Given the description of an element on the screen output the (x, y) to click on. 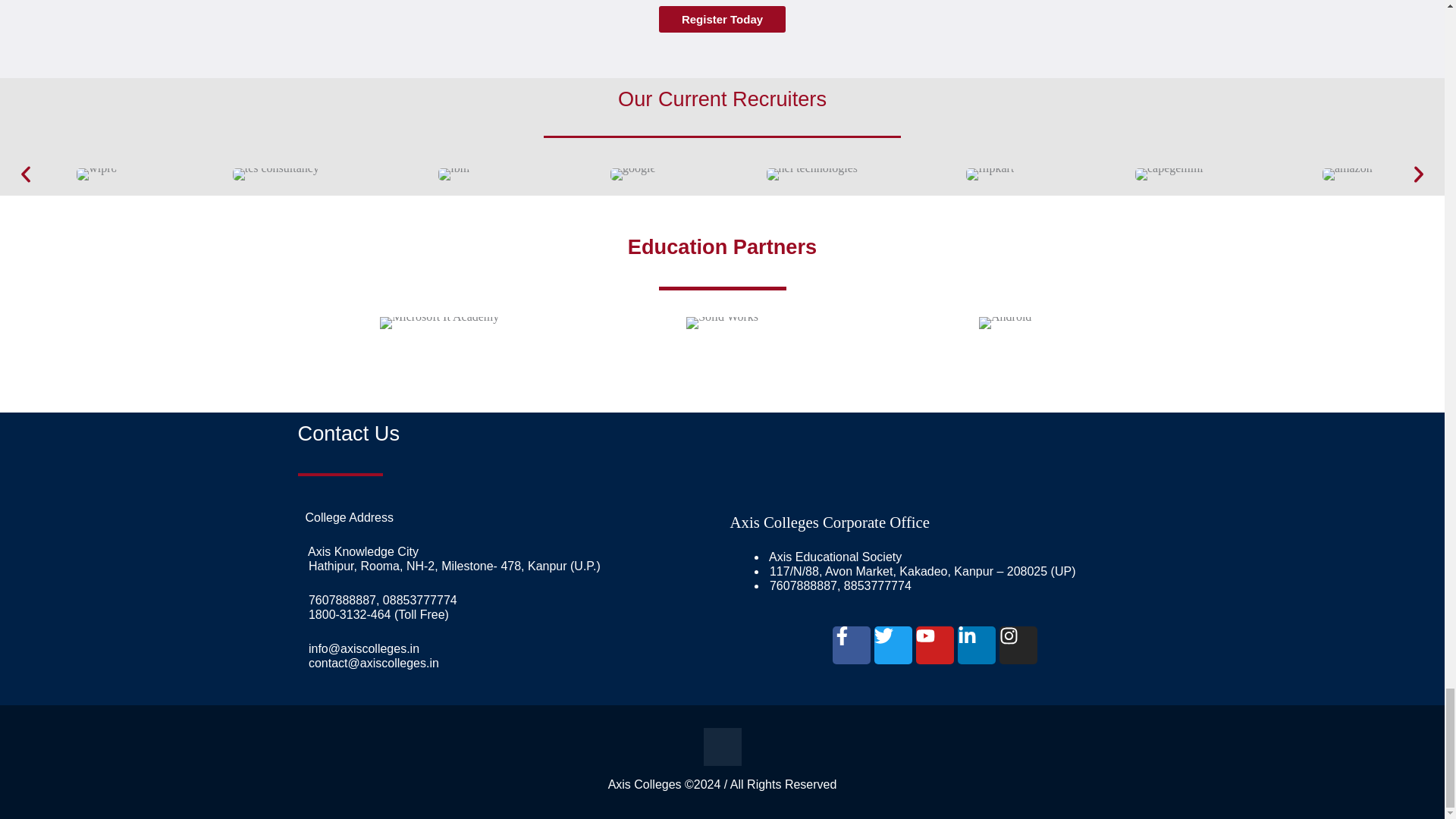
axis-logow (722, 746)
